Given the description of an element on the screen output the (x, y) to click on. 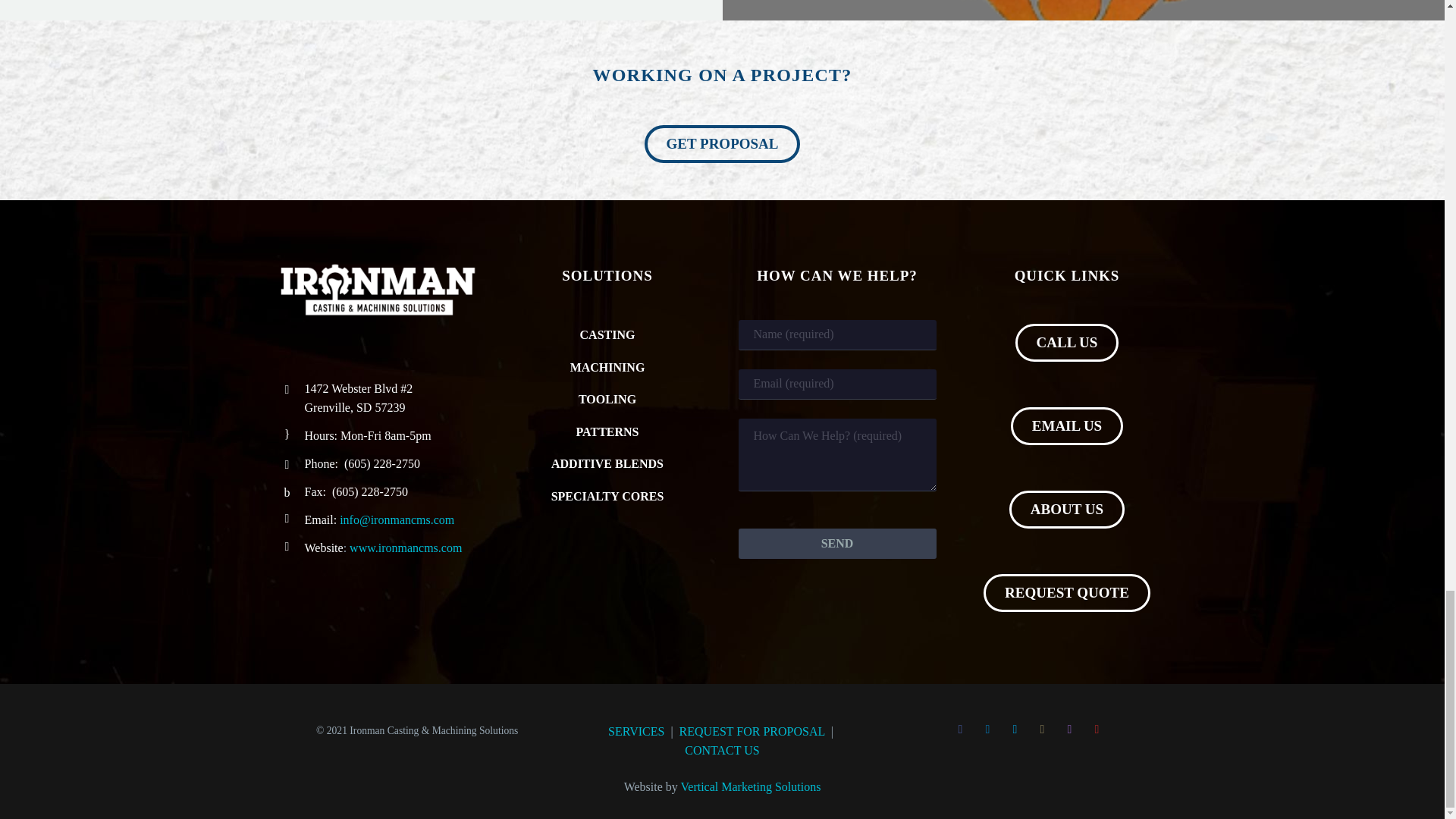
ABOUT US (1066, 509)
Request a Quote (722, 143)
REQUEST QUOTE (1067, 592)
CONTACT US (721, 749)
CALL US (1066, 342)
EMAIL US (1066, 426)
www.ironmancms.com (403, 547)
SERVICES (635, 730)
Send (837, 543)
Vertical Marketing Solutions (751, 786)
About Us (1066, 509)
CALL US (1066, 342)
EMAIL US (1066, 426)
Send (837, 543)
GET PROPOSAL (722, 143)
